Given the description of an element on the screen output the (x, y) to click on. 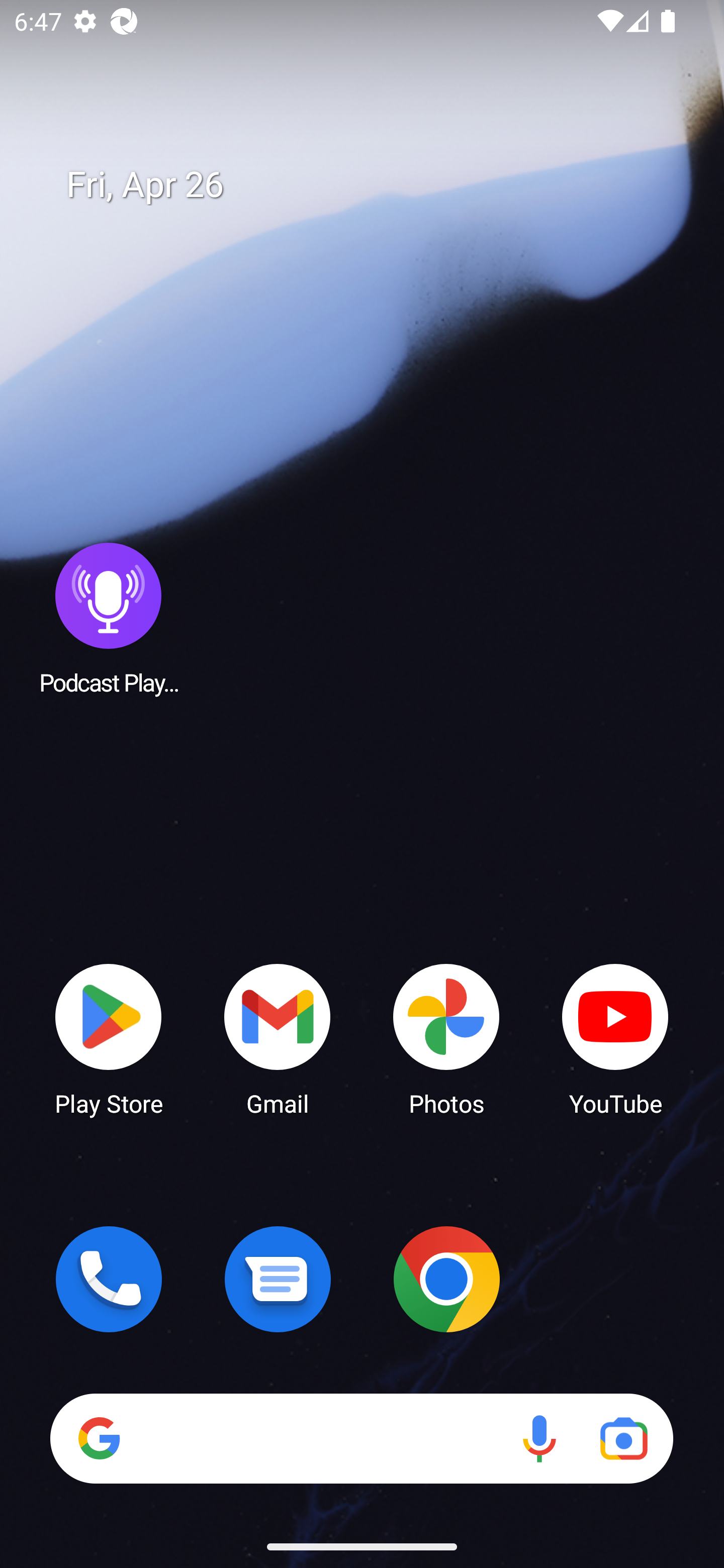
Fri, Apr 26 (375, 184)
Podcast Player (108, 617)
Play Store (108, 1038)
Gmail (277, 1038)
Photos (445, 1038)
YouTube (615, 1038)
Phone (108, 1279)
Messages (277, 1279)
Chrome (446, 1279)
Search Voice search Google Lens (361, 1438)
Voice search (539, 1438)
Google Lens (623, 1438)
